Given the description of an element on the screen output the (x, y) to click on. 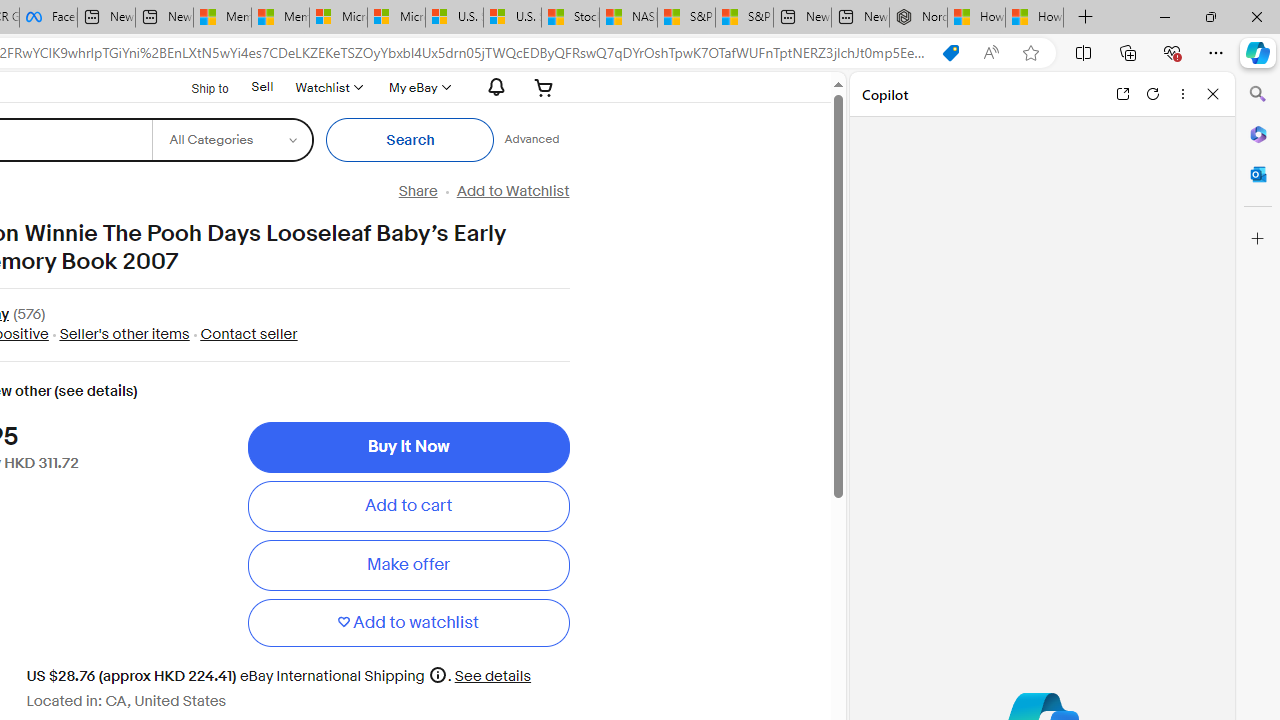
Open link in new tab (1122, 93)
Add to Watchlist (512, 191)
Add to cart (408, 506)
Make offer (408, 565)
(576) (29, 315)
Advanced Search (531, 139)
AutomationID: gh-eb-Alerts (493, 87)
Select a category for search (232, 139)
Buy It Now (408, 447)
WatchlistExpand Watch List (328, 87)
Facebook (48, 17)
